Given the description of an element on the screen output the (x, y) to click on. 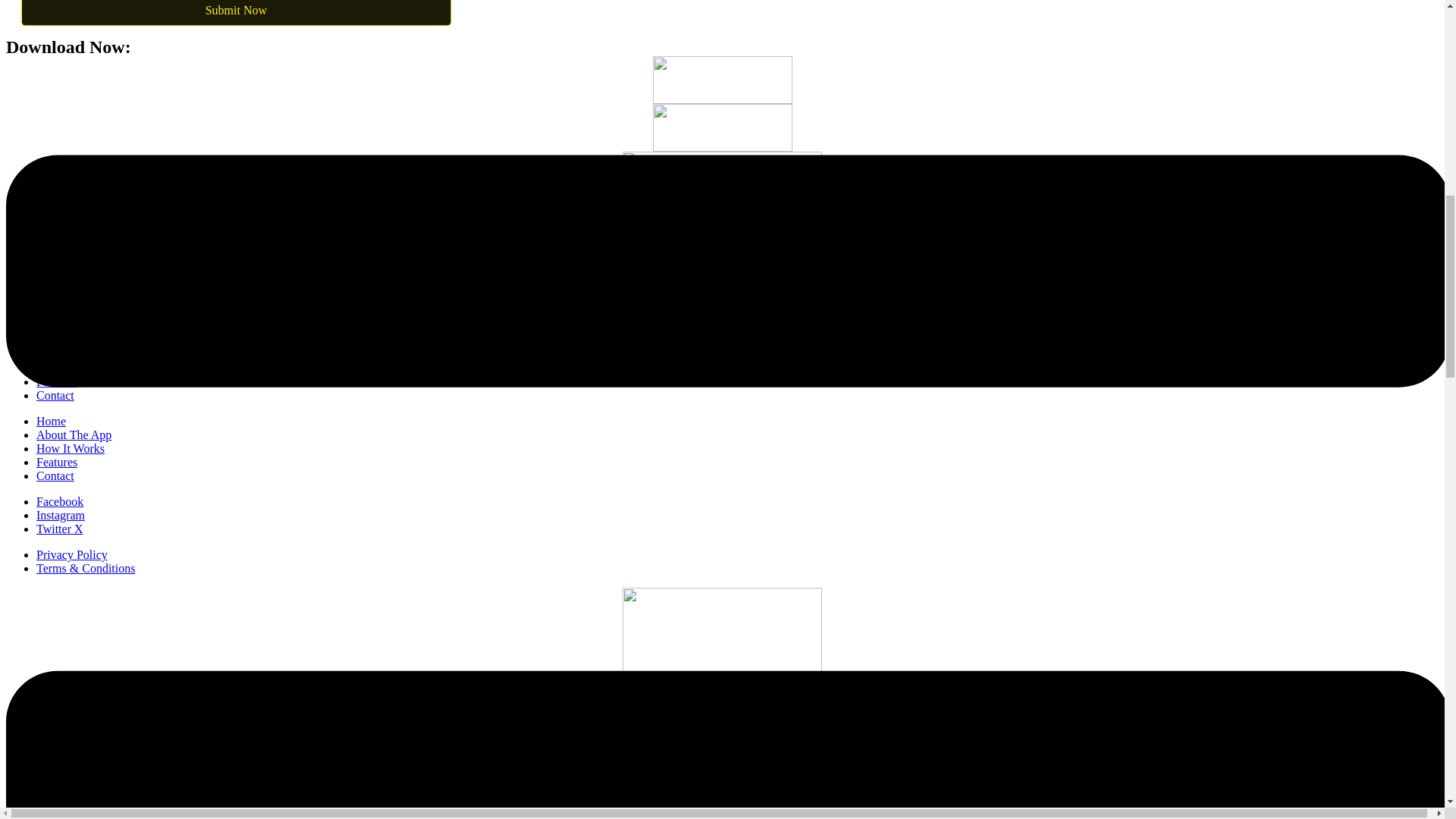
About The App (74, 789)
How It Works (70, 367)
Twitter X (59, 528)
Features (56, 381)
How It Works (70, 803)
About The App (74, 434)
About The App (74, 354)
How It Works (70, 448)
Facebook (59, 501)
Contact (55, 475)
